Given the description of an element on the screen output the (x, y) to click on. 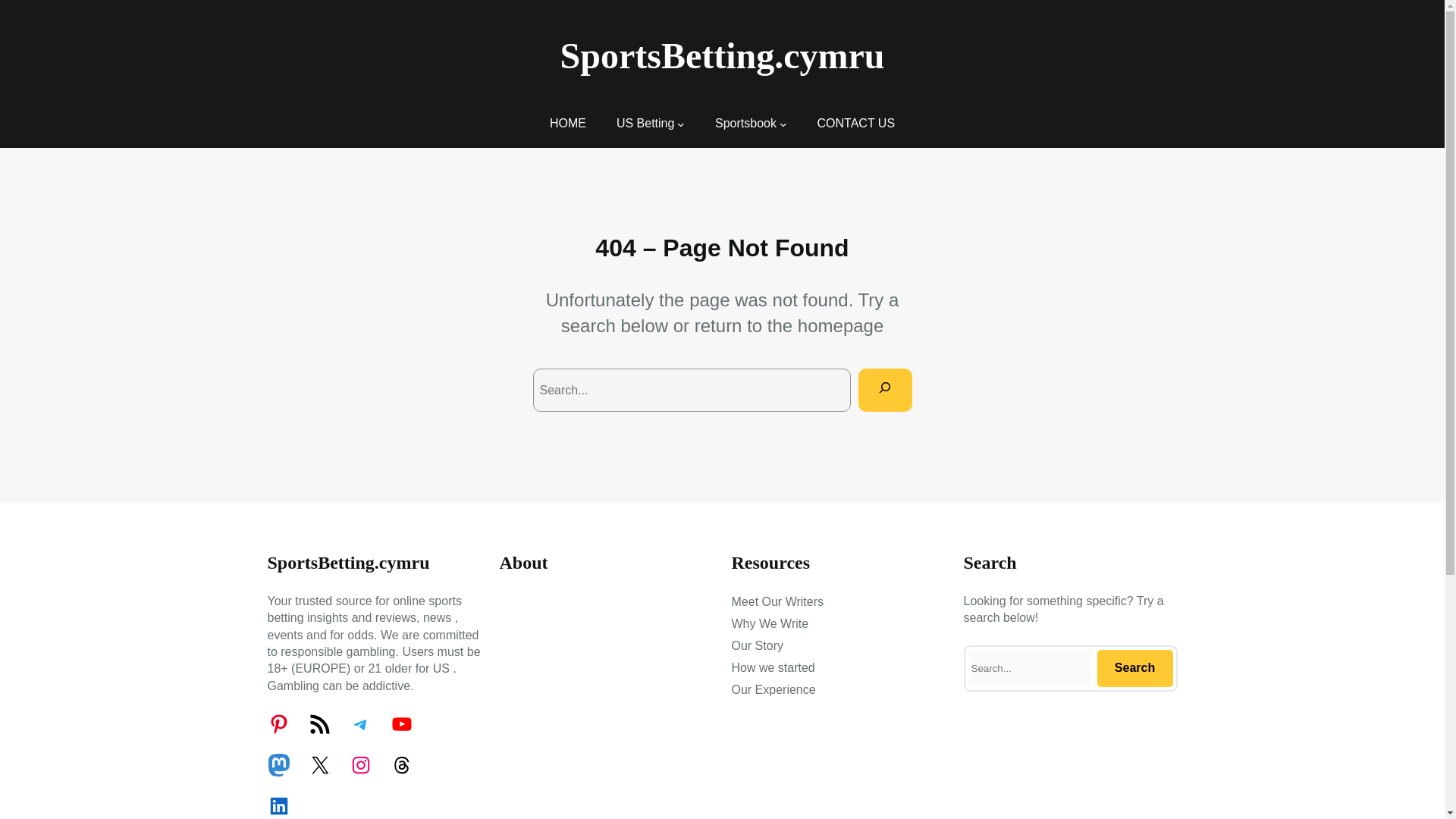
HOME (568, 123)
Our Story (756, 646)
Mastodon (277, 764)
YouTube (401, 723)
Instagram (360, 764)
homepage (840, 325)
Telegram (360, 723)
Threads (401, 764)
RSS Feed (318, 723)
Pinterest (277, 723)
Our Experience (772, 689)
Sportsbook (745, 123)
How we started (771, 668)
X (318, 764)
US Betting (644, 123)
